Given the description of an element on the screen output the (x, y) to click on. 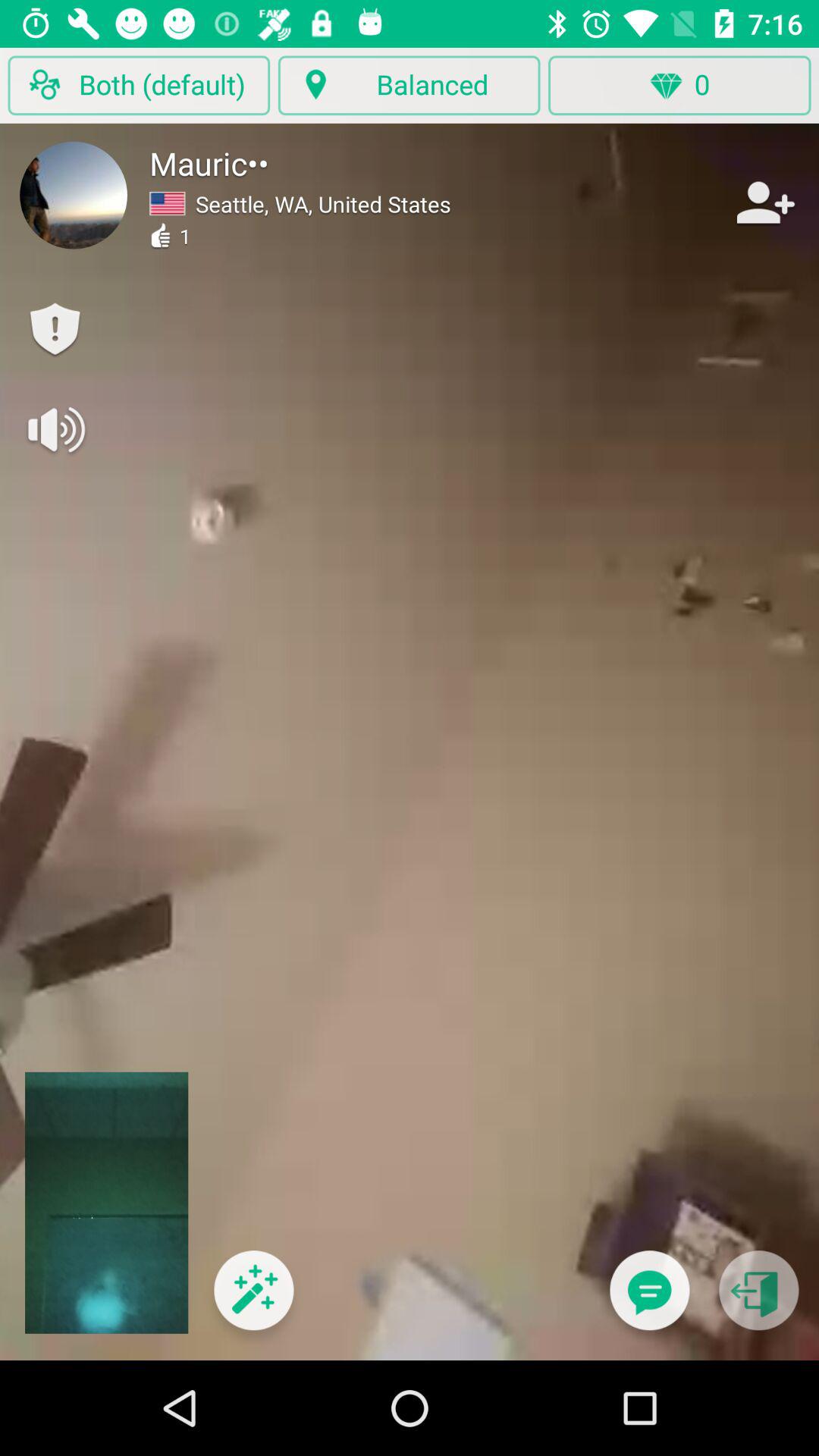
toggles the volume (55, 429)
